Given the description of an element on the screen output the (x, y) to click on. 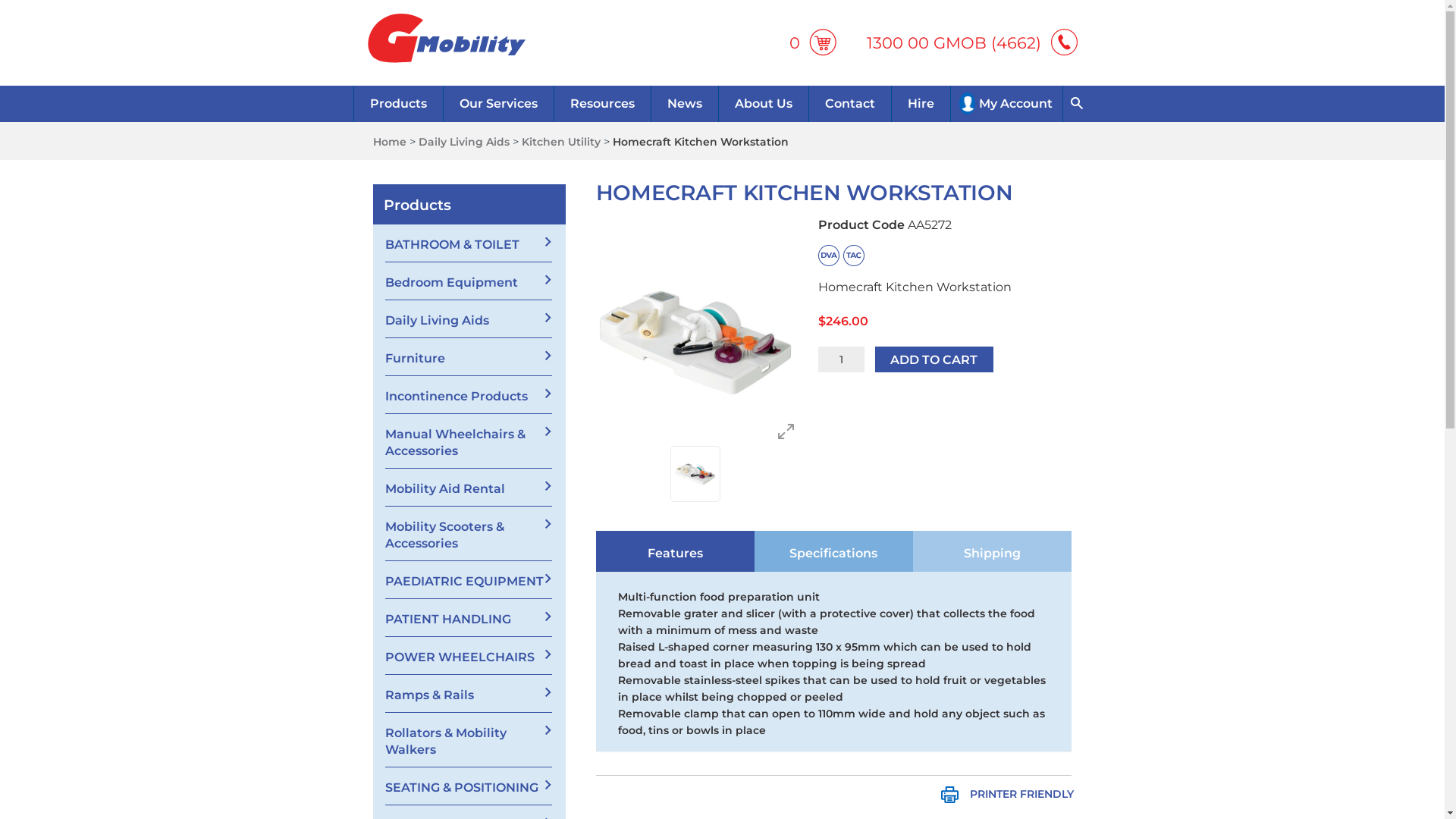
Our Services Element type: text (497, 103)
Resources Element type: text (601, 103)
Products Element type: text (397, 103)
0 Element type: text (813, 42)
Ramps & Rails Element type: text (468, 693)
ADD TO CART Element type: text (934, 359)
About Us Element type: text (763, 103)
Daily Living Aids Element type: text (468, 318)
Mobility Scooters & Accessories Element type: text (468, 533)
Contact Element type: text (849, 103)
Features Element type: text (675, 550)
Home Element type: text (389, 141)
Mobility Aid Rental Element type: text (468, 486)
PAEDIATRIC EQUIPMENT Element type: text (468, 579)
Qty Element type: hover (841, 359)
1300 00 GMOB (4662) Element type: text (972, 42)
Bedroom Equipment Element type: text (468, 280)
SEATING & POSITIONING Element type: text (468, 785)
POWER WHEELCHAIRS Element type: text (468, 655)
Furniture Element type: text (468, 356)
Incontinence Products Element type: text (468, 394)
Manual Wheelchairs & Accessories Element type: text (468, 440)
PATIENT HANDLING Element type: text (468, 617)
Daily Living Aids Element type: text (463, 141)
Shipping Element type: text (992, 550)
Rollators & Mobility Walkers Element type: text (468, 739)
PRINTER FRIENDLY Element type: text (1007, 789)
News Element type: text (684, 103)
BATHROOM & TOILET Element type: text (468, 242)
Hire Element type: text (920, 103)
Specifications Element type: text (833, 550)
My Account Element type: text (1005, 103)
Kitchen Utility Element type: text (560, 141)
